Given the description of an element on the screen output the (x, y) to click on. 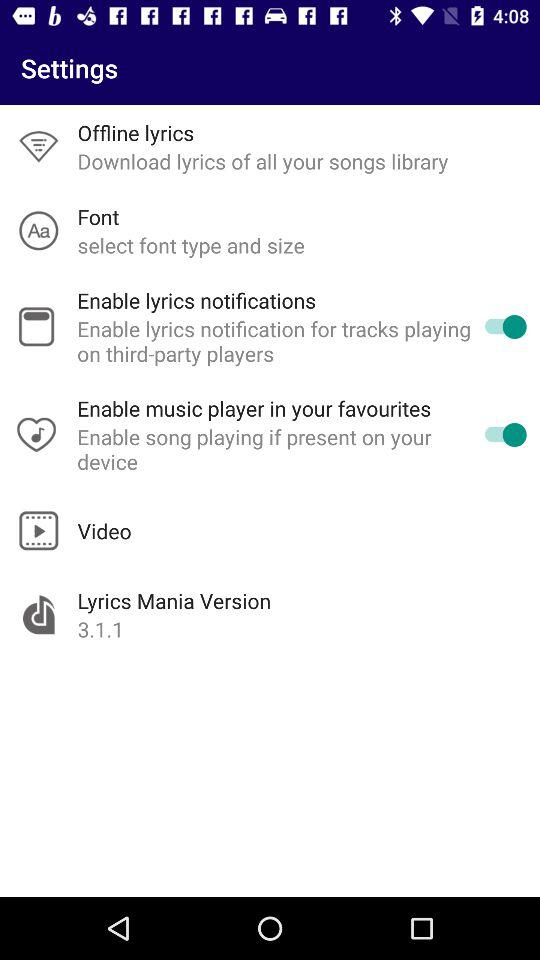
launch download lyrics of app (262, 161)
